Given the description of an element on the screen output the (x, y) to click on. 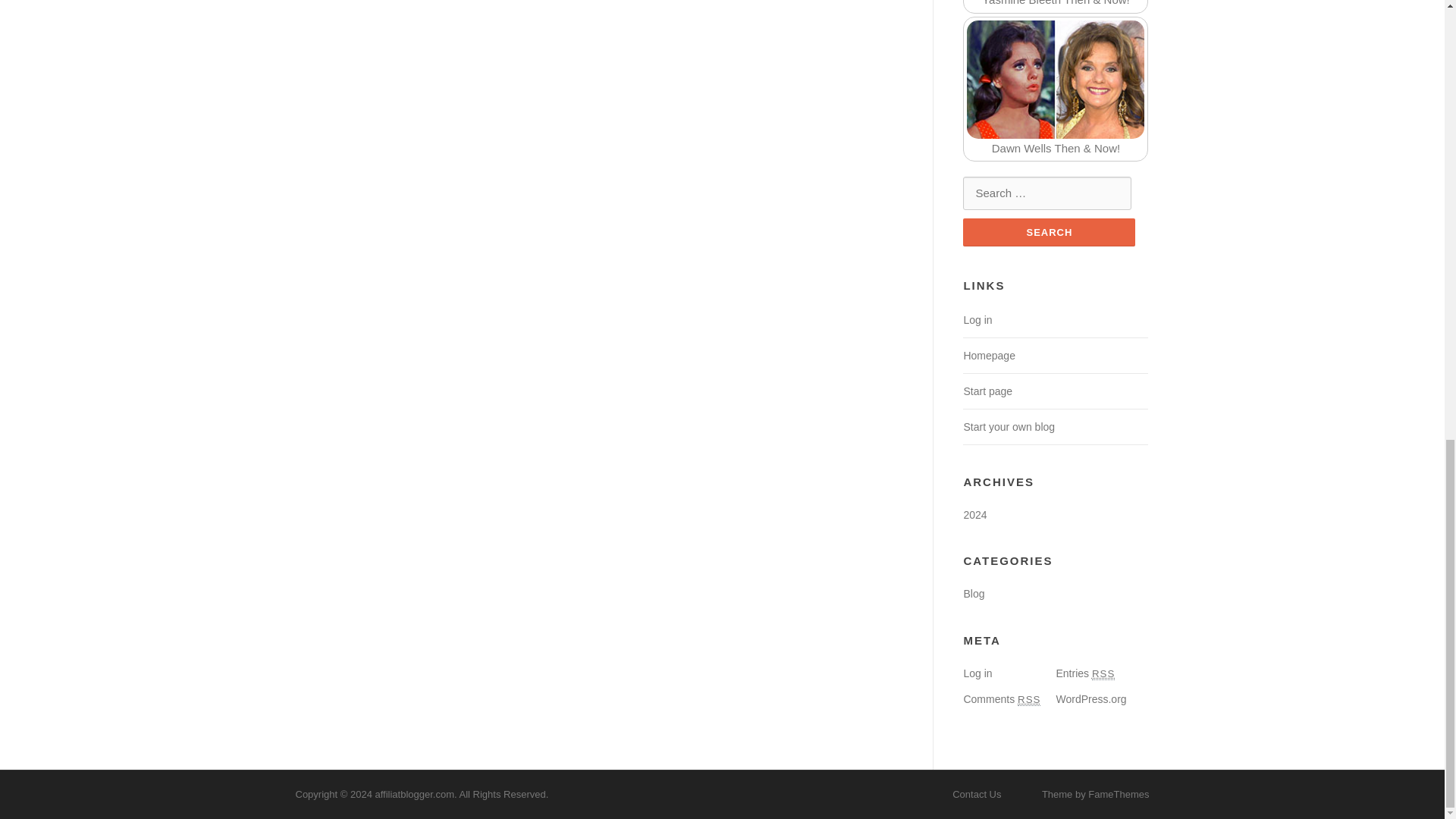
Contact Us (976, 794)
Blog (973, 593)
2024 (974, 514)
Search (1048, 232)
Comments RSS (1001, 698)
affiliatblogger.com (414, 794)
Search (1048, 232)
Start page (986, 390)
Log in (976, 673)
Start your own blog (1008, 426)
